Given the description of an element on the screen output the (x, y) to click on. 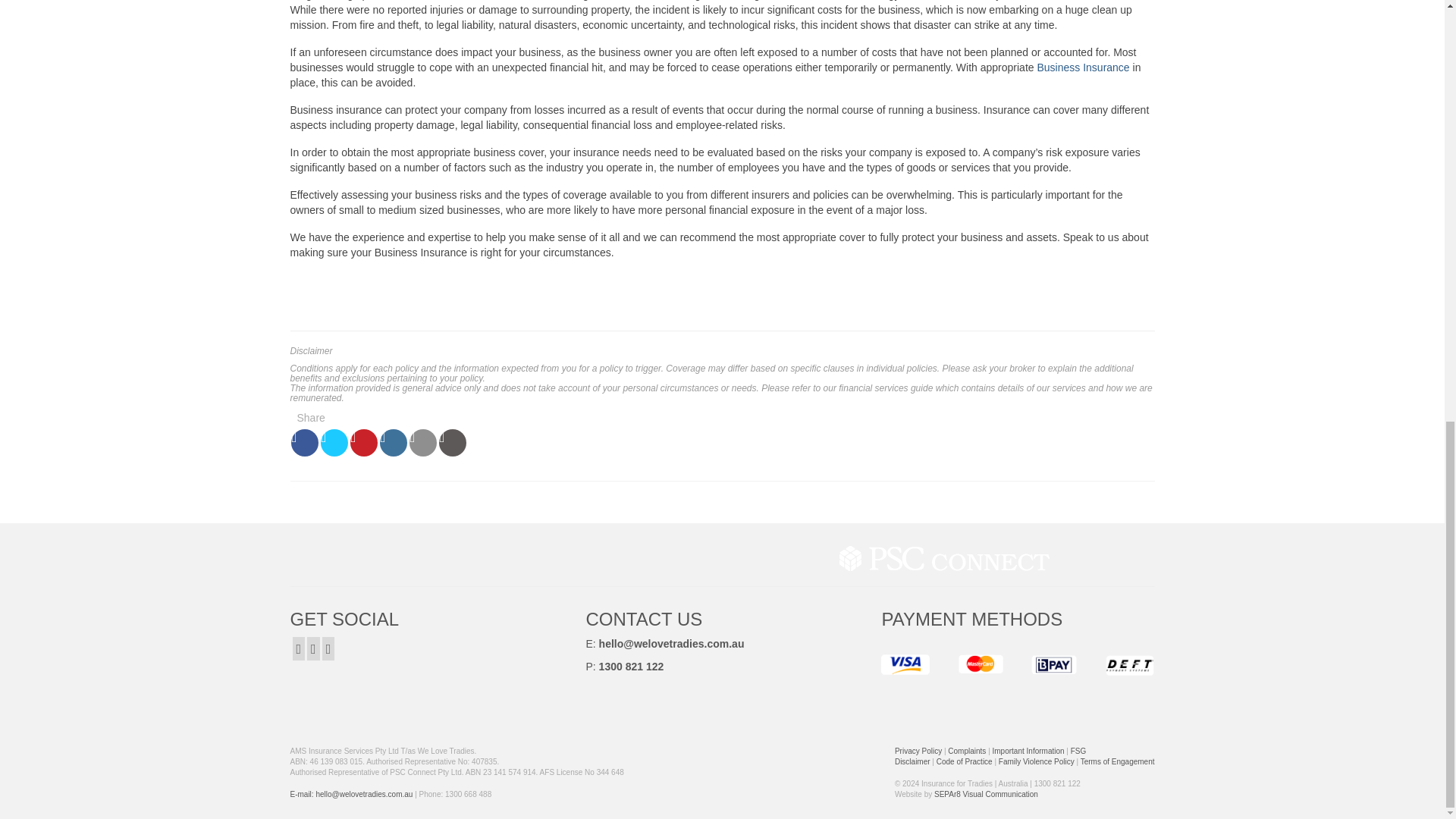
Share on Facebook (304, 442)
Share on Pinterest (363, 442)
Business Insurance (1082, 67)
Share on LinkedIn (393, 442)
Print (452, 442)
Share on Twitter (333, 442)
Share it on Email (422, 442)
